Given the description of an element on the screen output the (x, y) to click on. 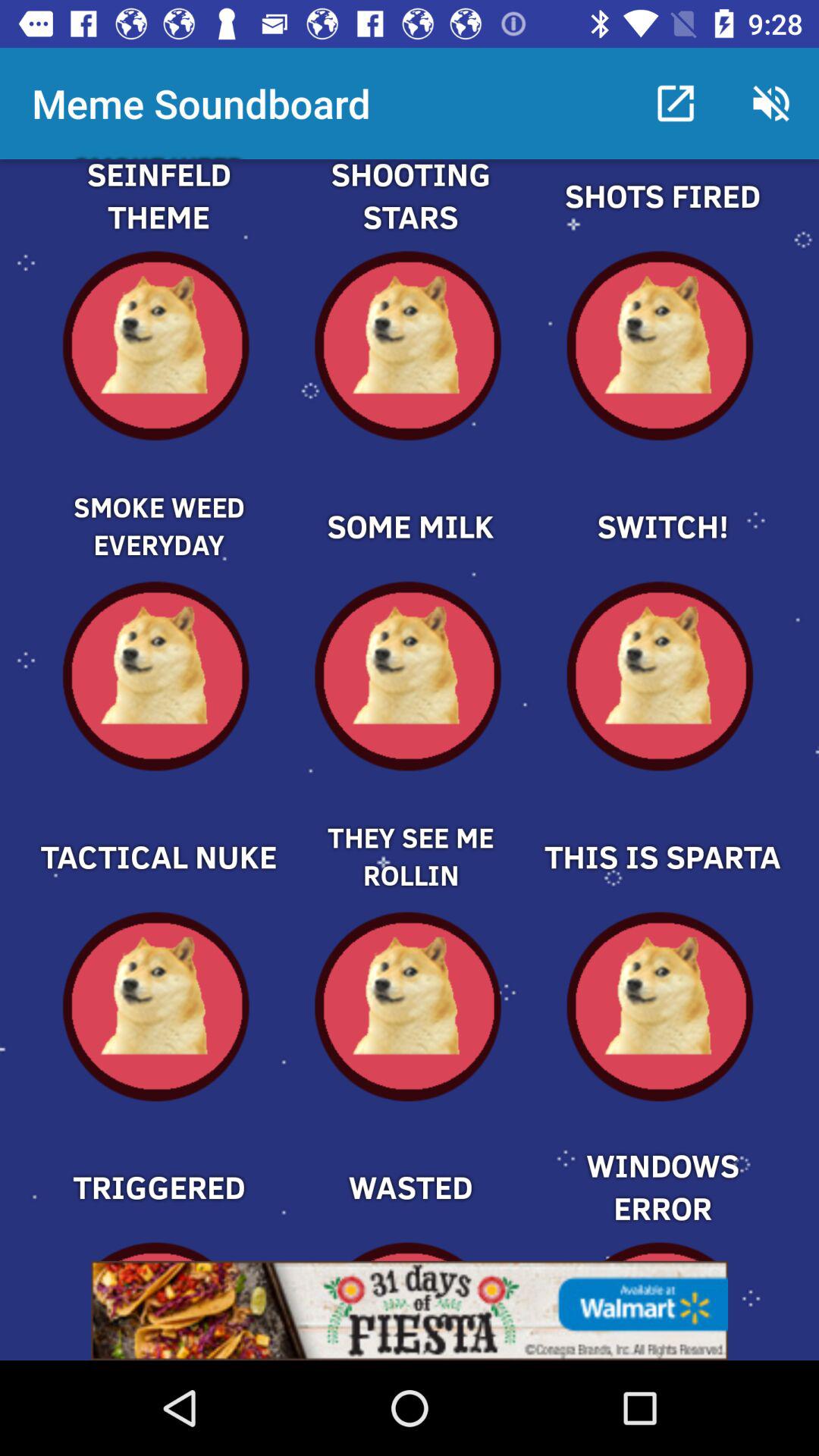
some milk meme (409, 500)
